Given the description of an element on the screen output the (x, y) to click on. 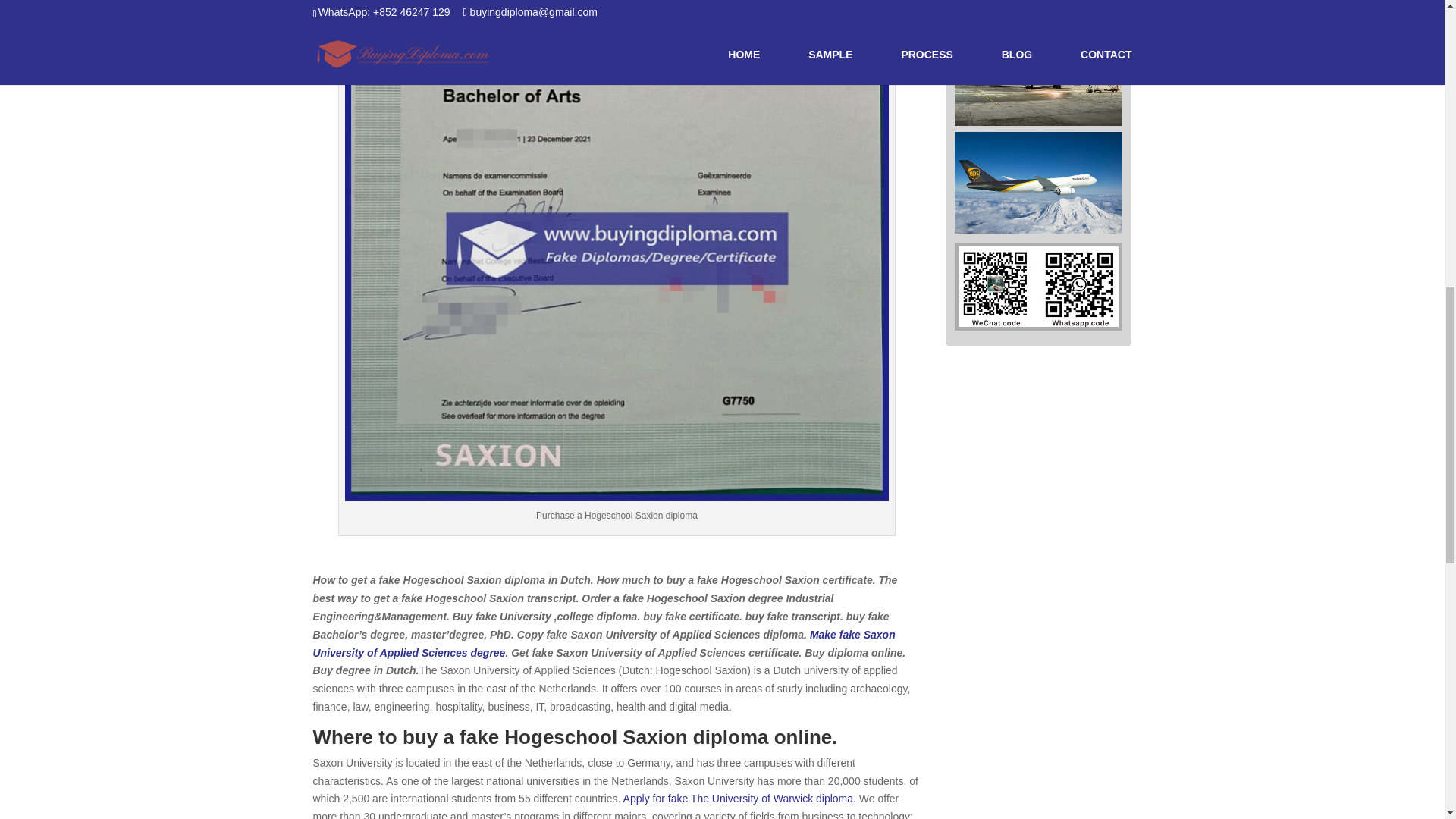
d110dcfc2a946e383fcf2c15564d892e (1038, 74)
2d3dbff73217d4c9ed7e7cf52a4072fb (1038, 182)
Make fake Saxon University of Applied Sciences degree (604, 643)
Wecha-code (1038, 286)
Apply for fake The University of Warwick diploma. (741, 798)
